Given the description of an element on the screen output the (x, y) to click on. 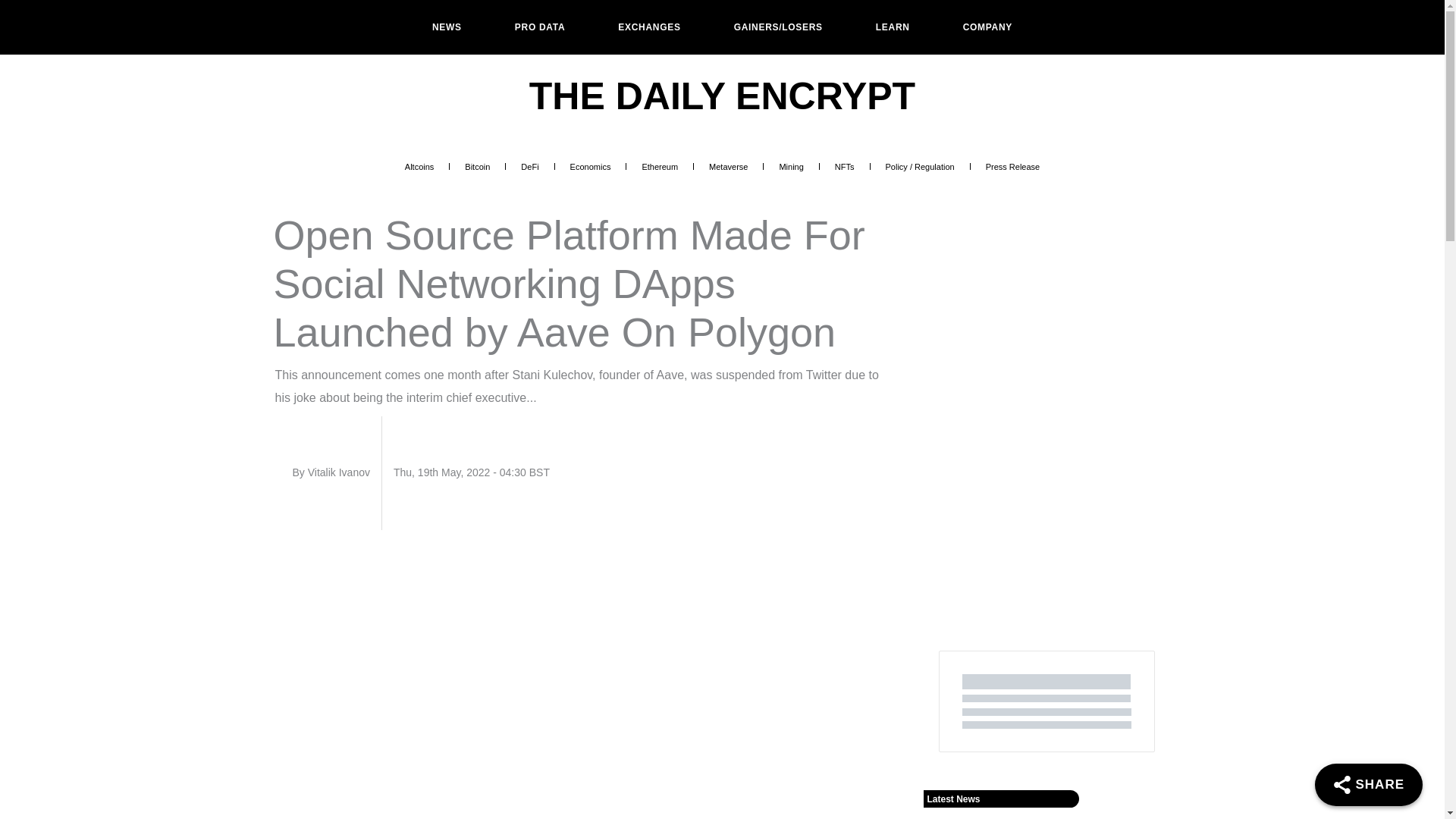
COMPANY (987, 27)
PRO DATA (540, 27)
LEARN (893, 27)
EXCHANGES (649, 27)
NEWS (446, 27)
